Given the description of an element on the screen output the (x, y) to click on. 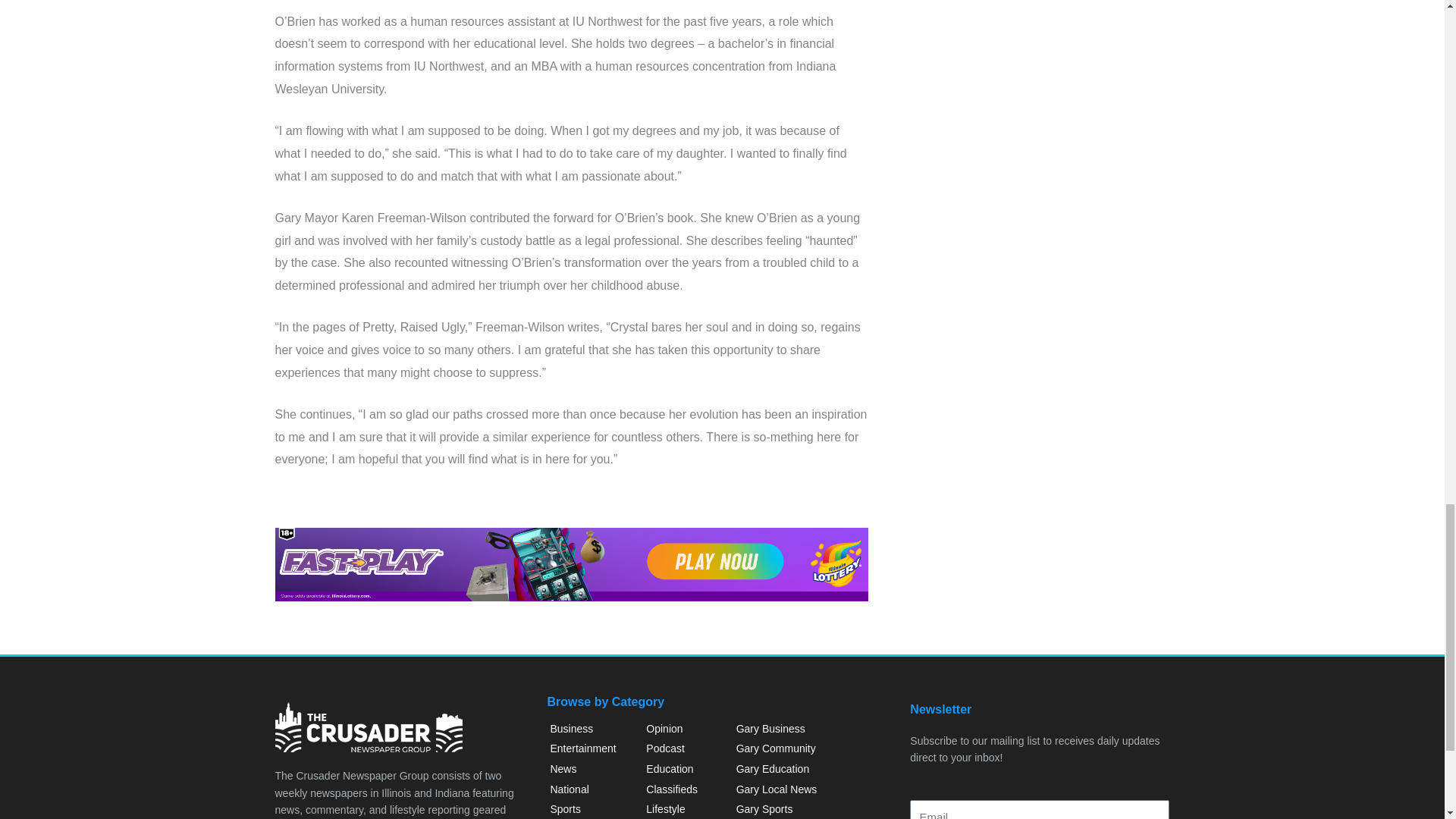
Fast Play-Lottery-Footer-July 2024 (571, 564)
